Given the description of an element on the screen output the (x, y) to click on. 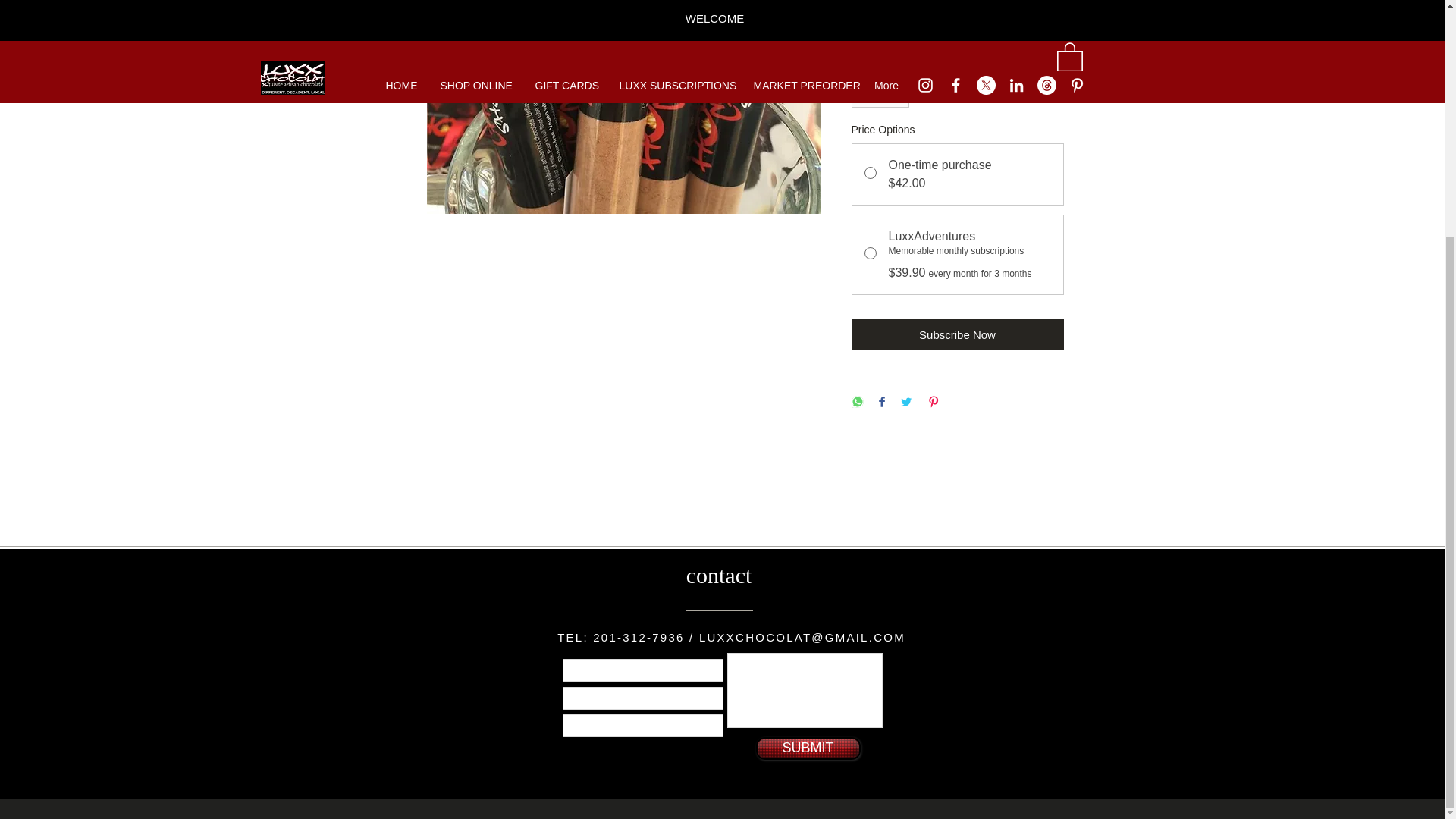
1 (879, 91)
